Given the description of an element on the screen output the (x, y) to click on. 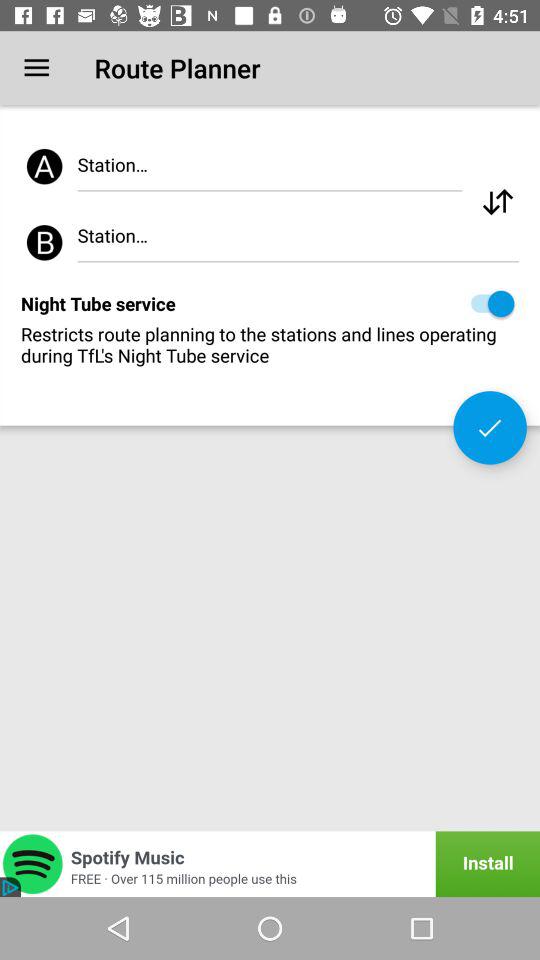
import export (498, 202)
